Given the description of an element on the screen output the (x, y) to click on. 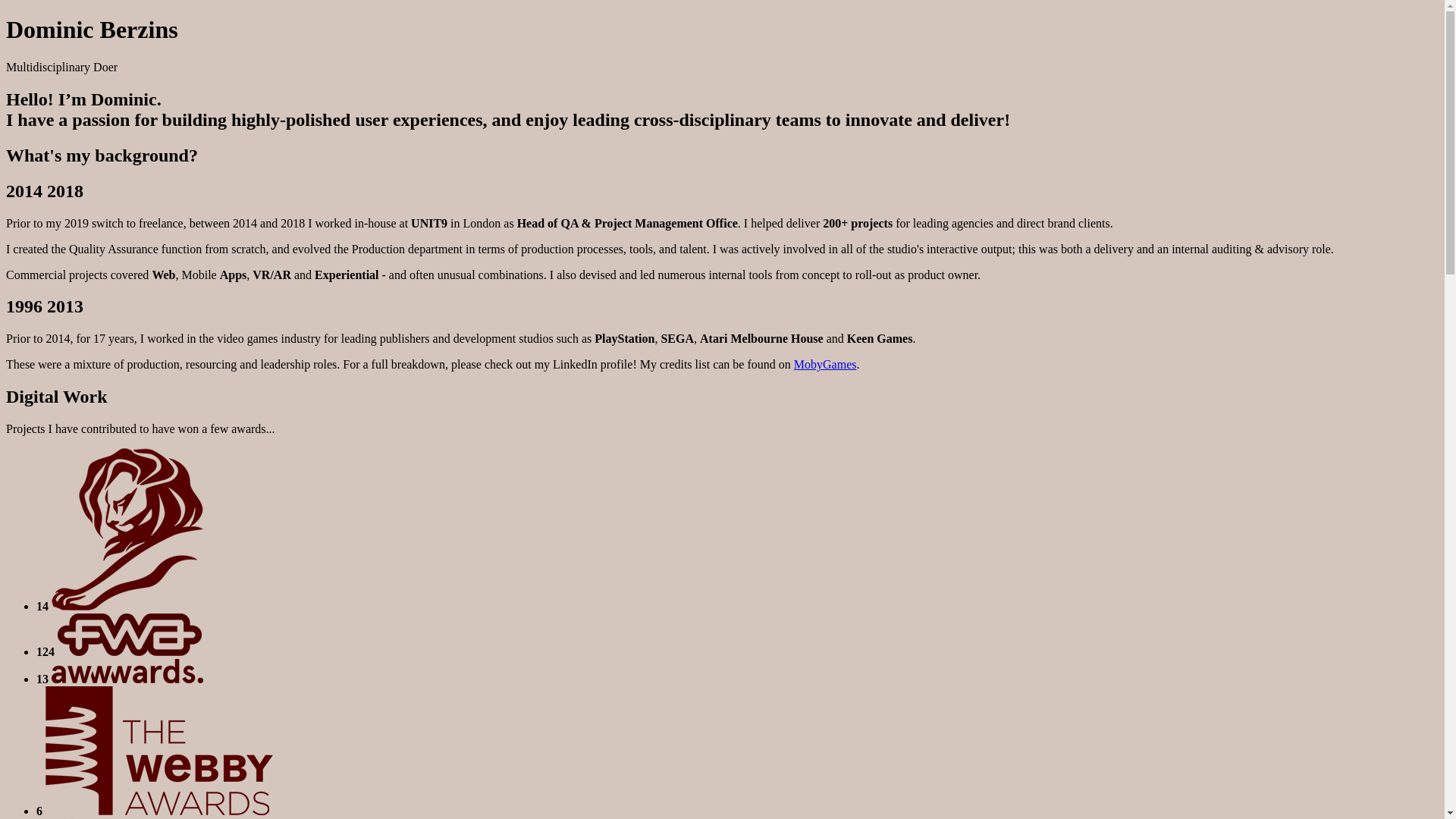
Awwwards Element type: hover (127, 670)
Cannes Lions Element type: hover (127, 529)
The Webby Awards Element type: hover (159, 750)
MobyGames Element type: text (824, 363)
FWA Element type: hover (129, 634)
